Given the description of an element on the screen output the (x, y) to click on. 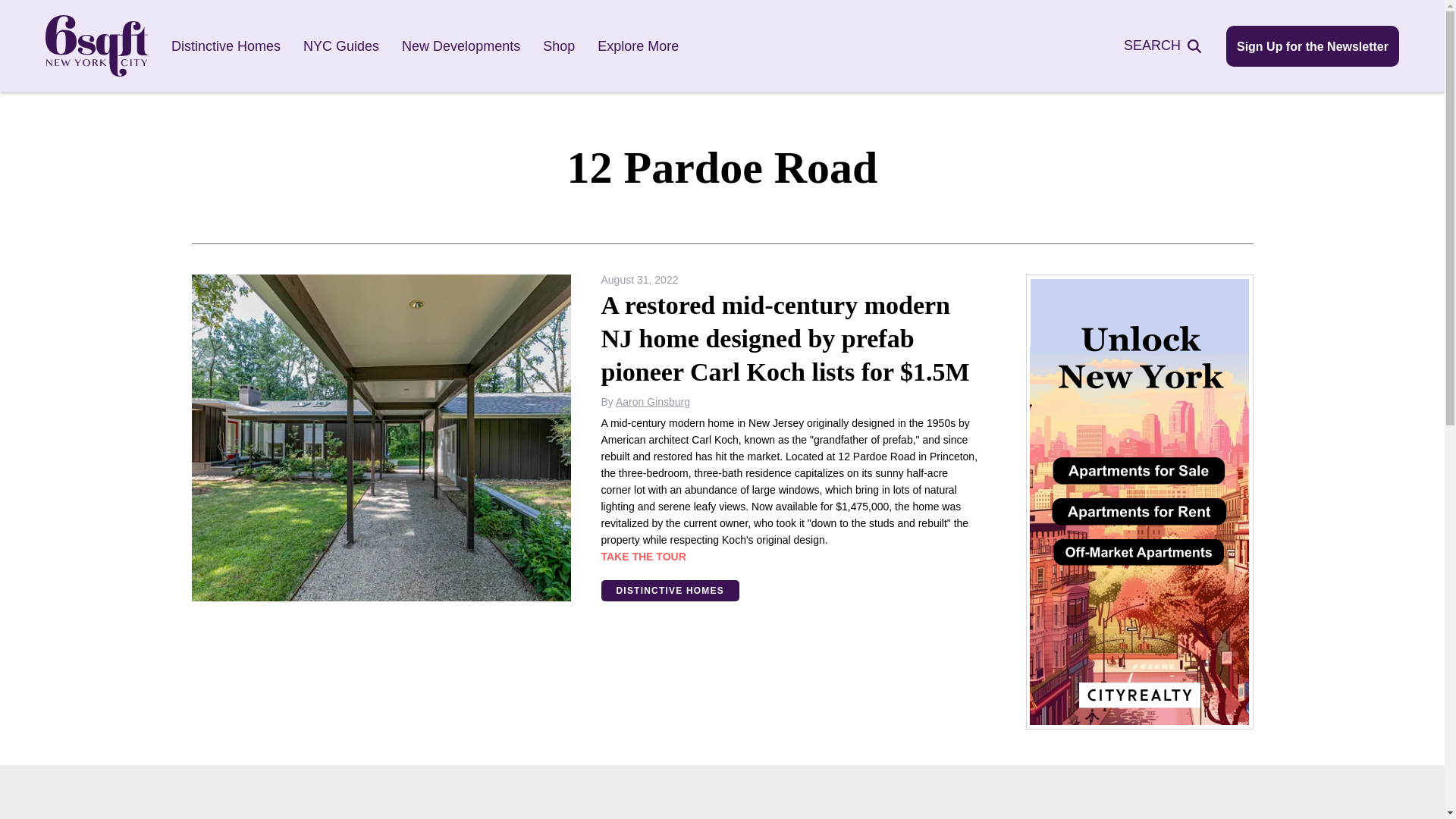
Sign Up for the Newsletter (1312, 45)
Explore More (637, 46)
NYC Guides (340, 46)
Aaron Ginsburg (652, 401)
Posts by Aaron Ginsburg (652, 401)
Distinctive Homes (226, 46)
SEARCH (1171, 45)
DISTINCTIVE HOMES (668, 590)
New Developments (460, 46)
TAKE THE TOUR (642, 556)
Shop (559, 46)
